Given the description of an element on the screen output the (x, y) to click on. 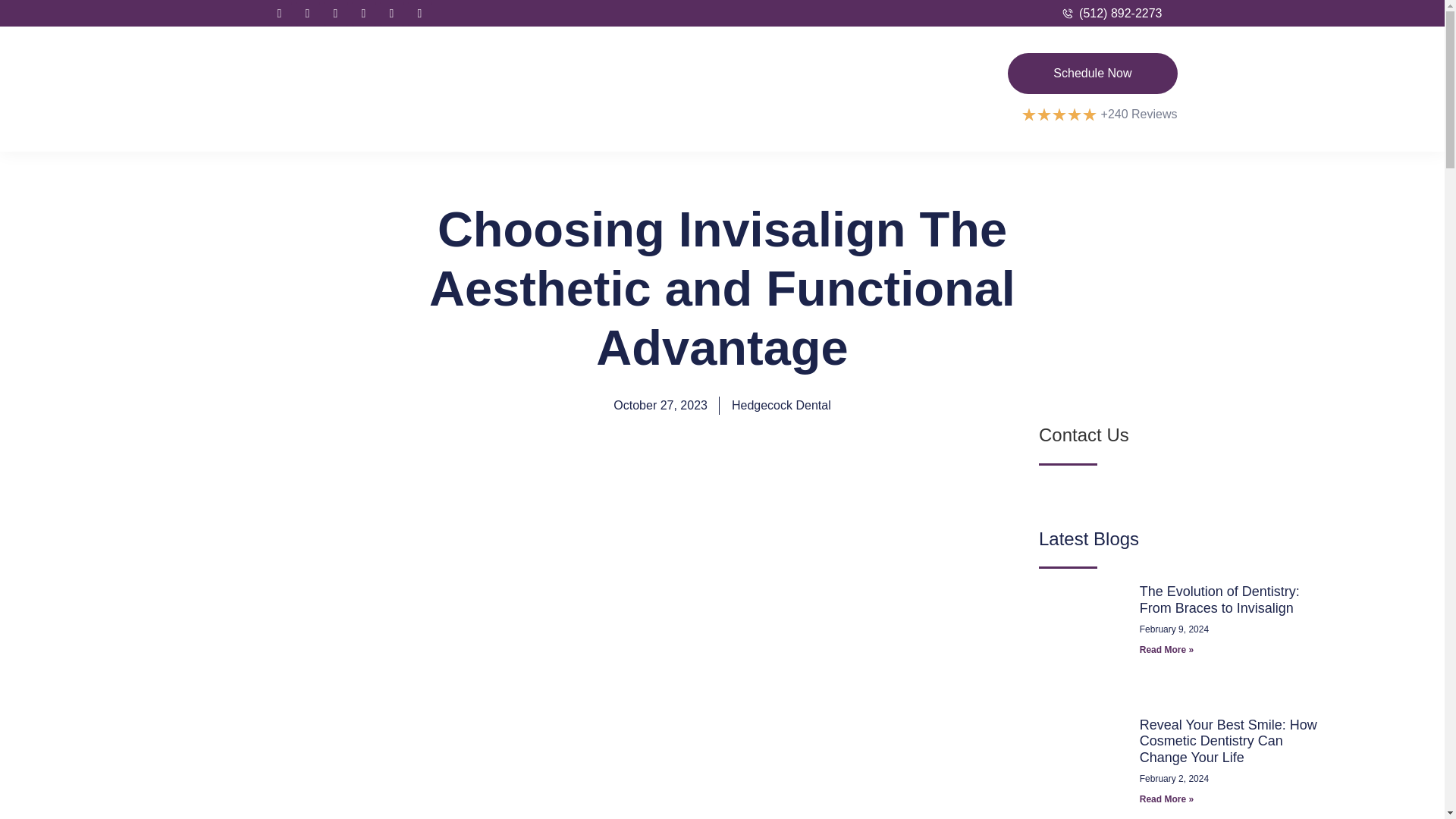
Schedule Now (1091, 73)
October 27, 2023 (659, 405)
Hedgecock Dental (781, 405)
The Evolution of Dentistry: From Braces to Invisalign (1220, 599)
